Given the description of an element on the screen output the (x, y) to click on. 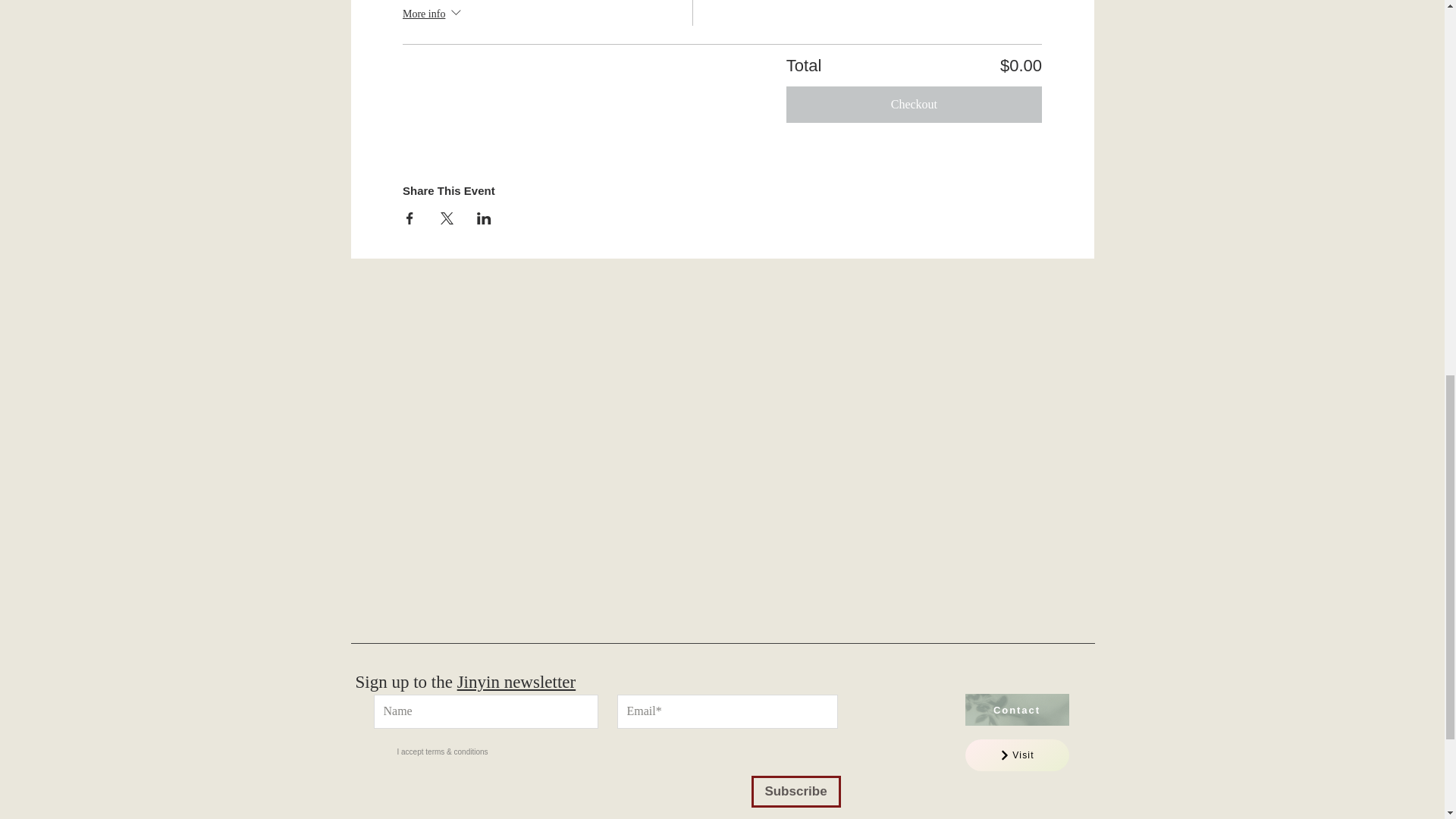
Contact (1015, 709)
Visit (1015, 755)
Jinyin newsletter (516, 681)
Checkout (914, 104)
More info (433, 14)
Subscribe (795, 791)
